Given the description of an element on the screen output the (x, y) to click on. 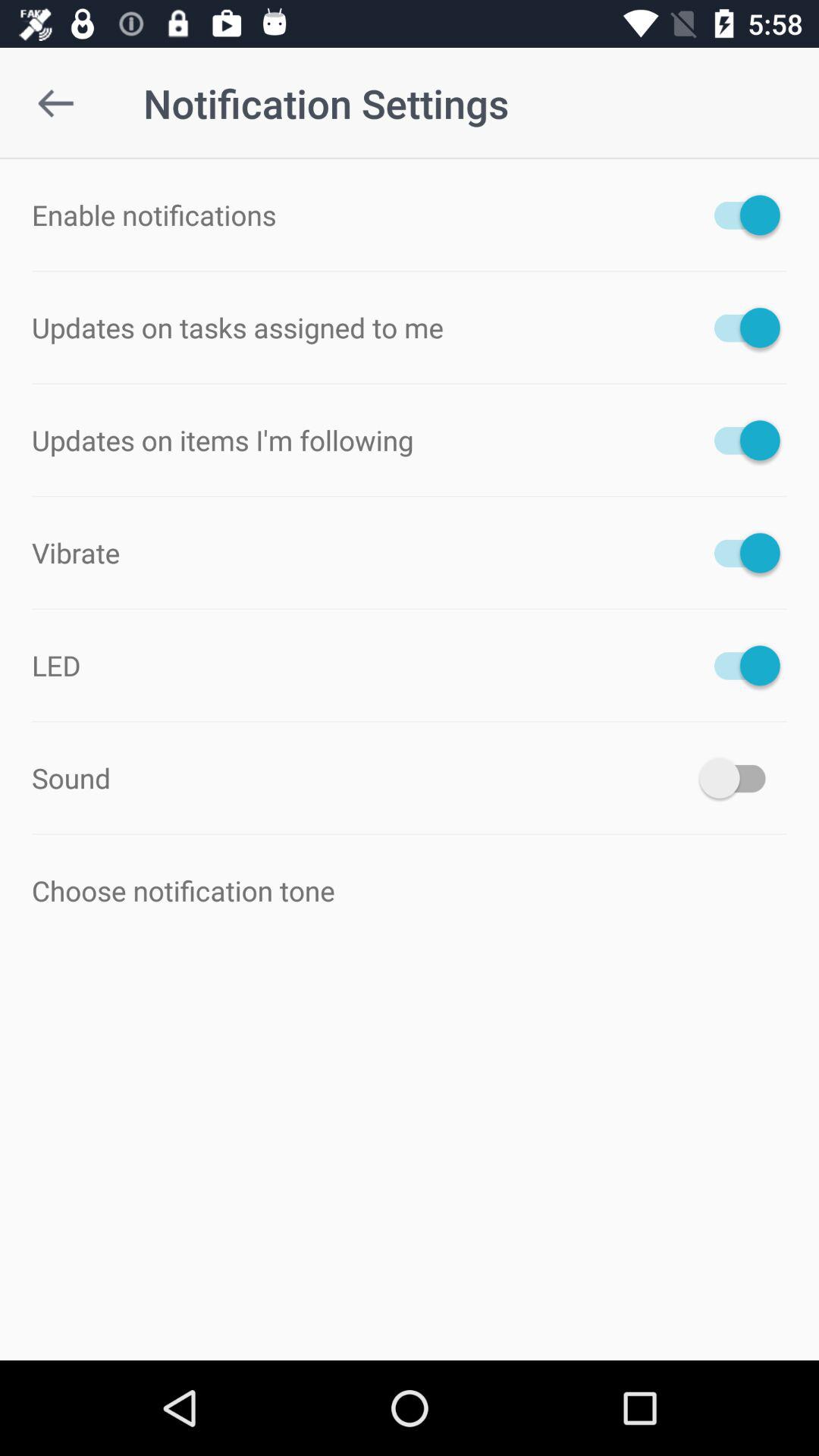
on (739, 552)
